Given the description of an element on the screen output the (x, y) to click on. 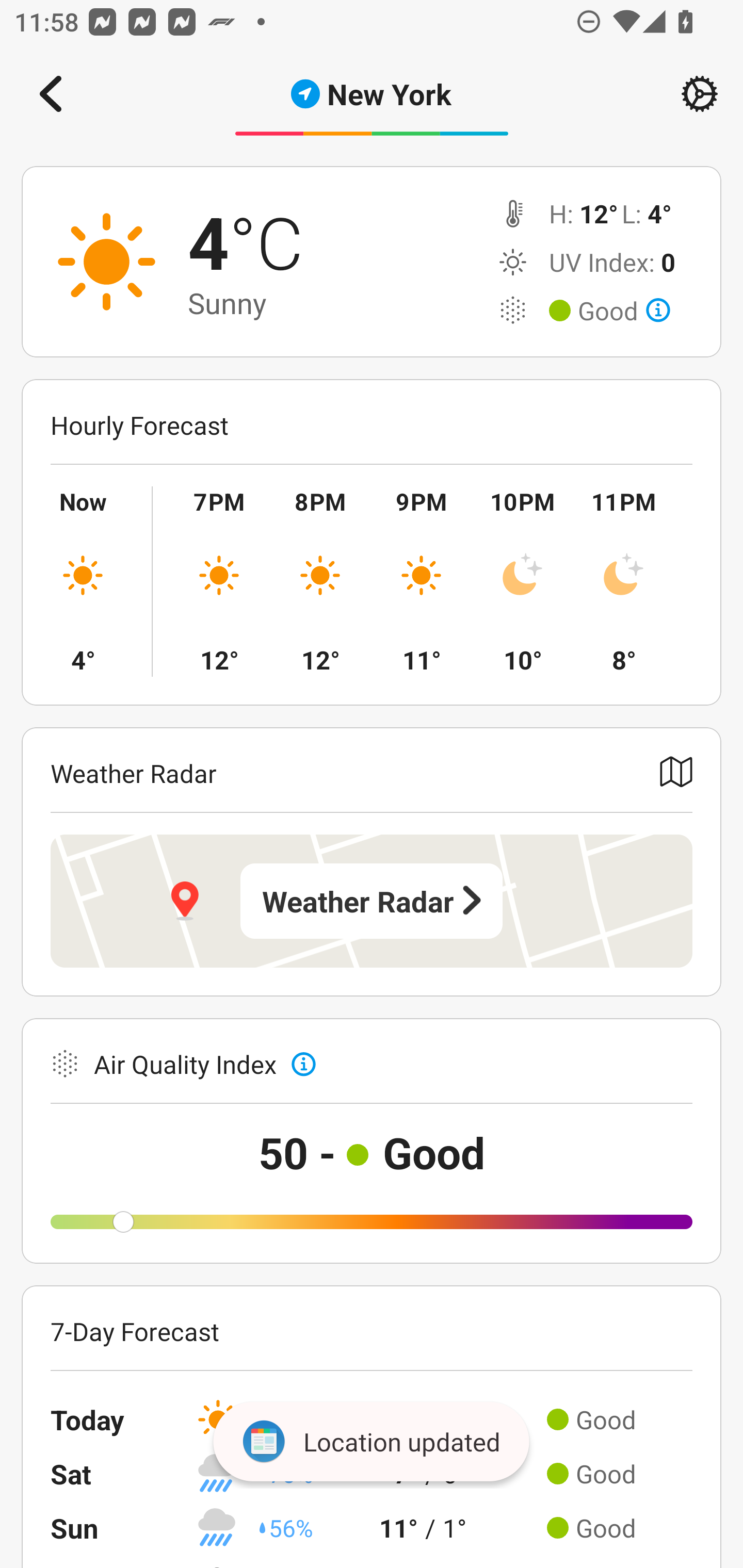
Navigate up (50, 93)
Setting (699, 93)
Good (624, 310)
Weather Radar (371, 900)
